Given the description of an element on the screen output the (x, y) to click on. 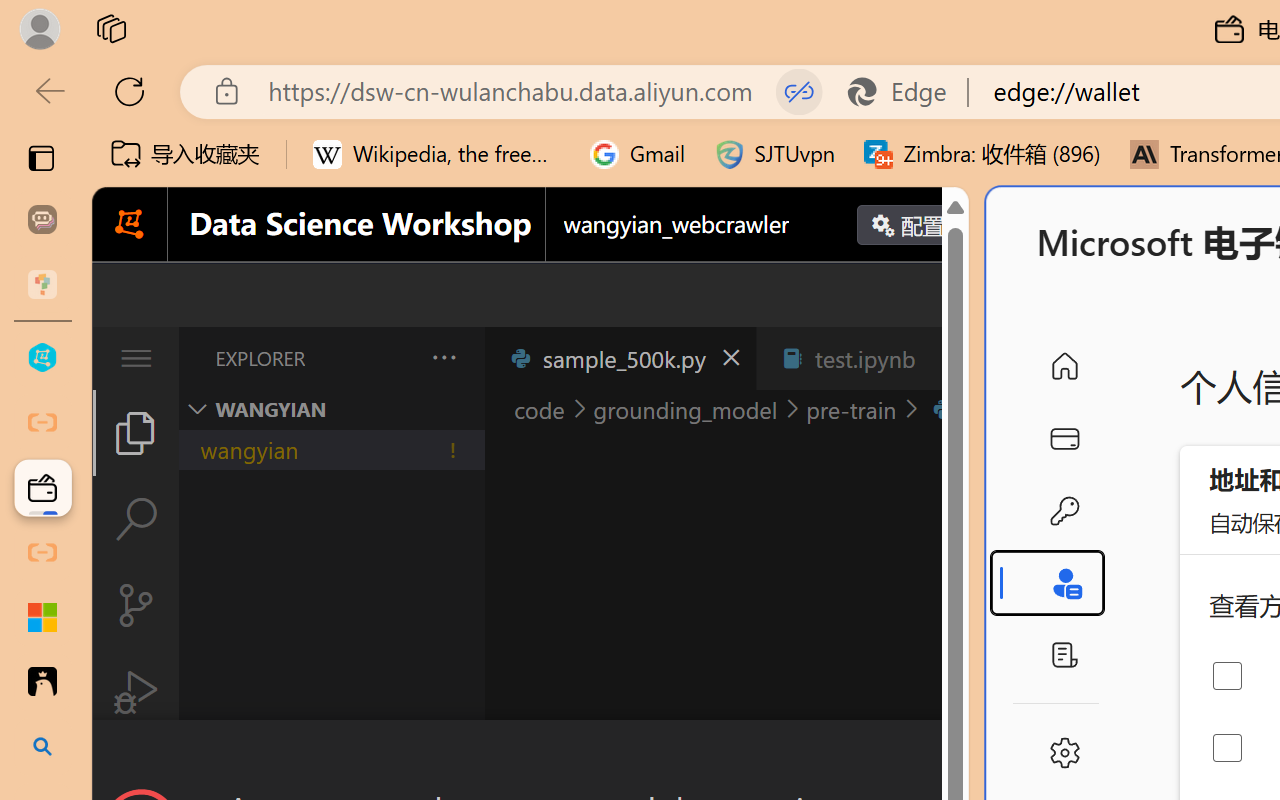
test.ipynb (864, 358)
Tab actions (945, 358)
Close Dialog (959, 756)
Source Control (Ctrl+Shift+G) (135, 604)
